Given the description of an element on the screen output the (x, y) to click on. 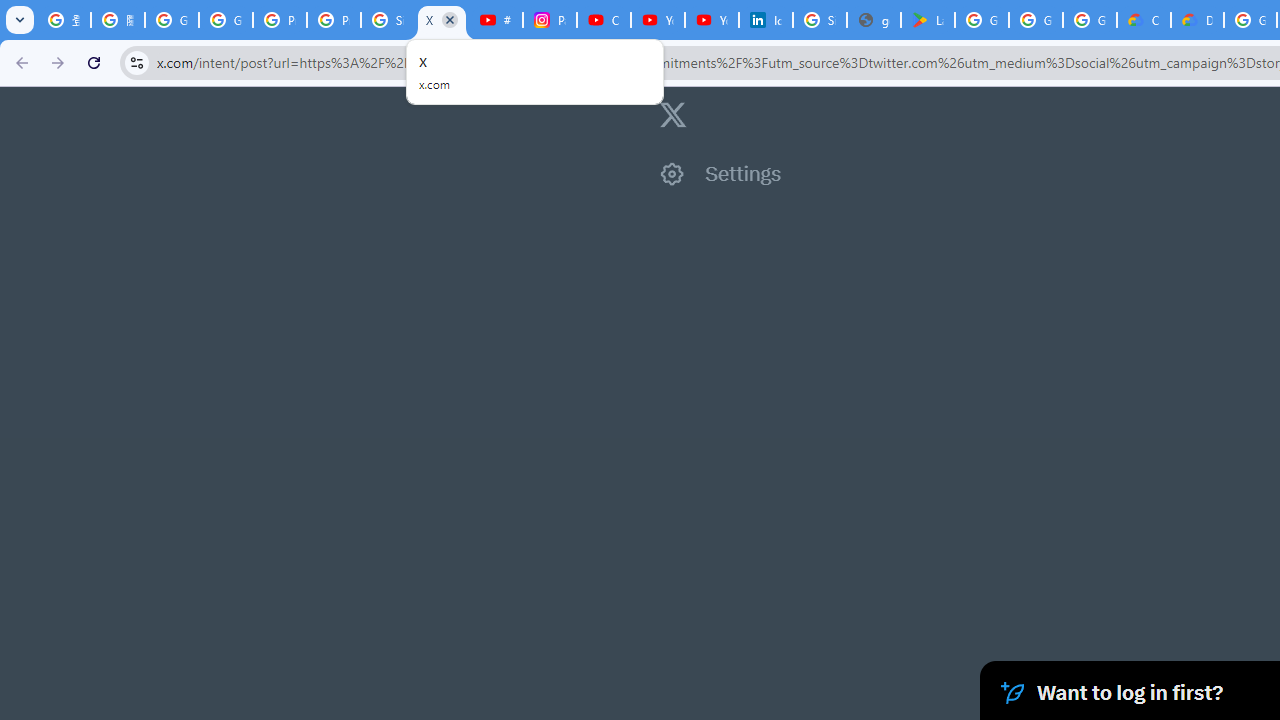
Sign in - Google Accounts (819, 20)
X (441, 20)
#nbabasketballhighlights - YouTube (495, 20)
Google Workspace - Specific Terms (1089, 20)
Last Shelter: Survival - Apps on Google Play (927, 20)
